Given the description of an element on the screen output the (x, y) to click on. 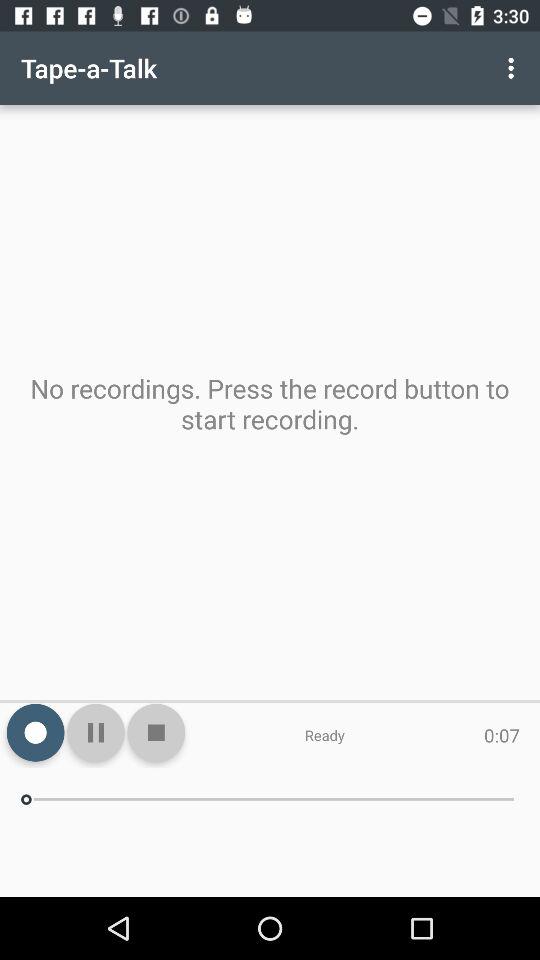
open the app next to tape-a-talk app (513, 67)
